Given the description of an element on the screen output the (x, y) to click on. 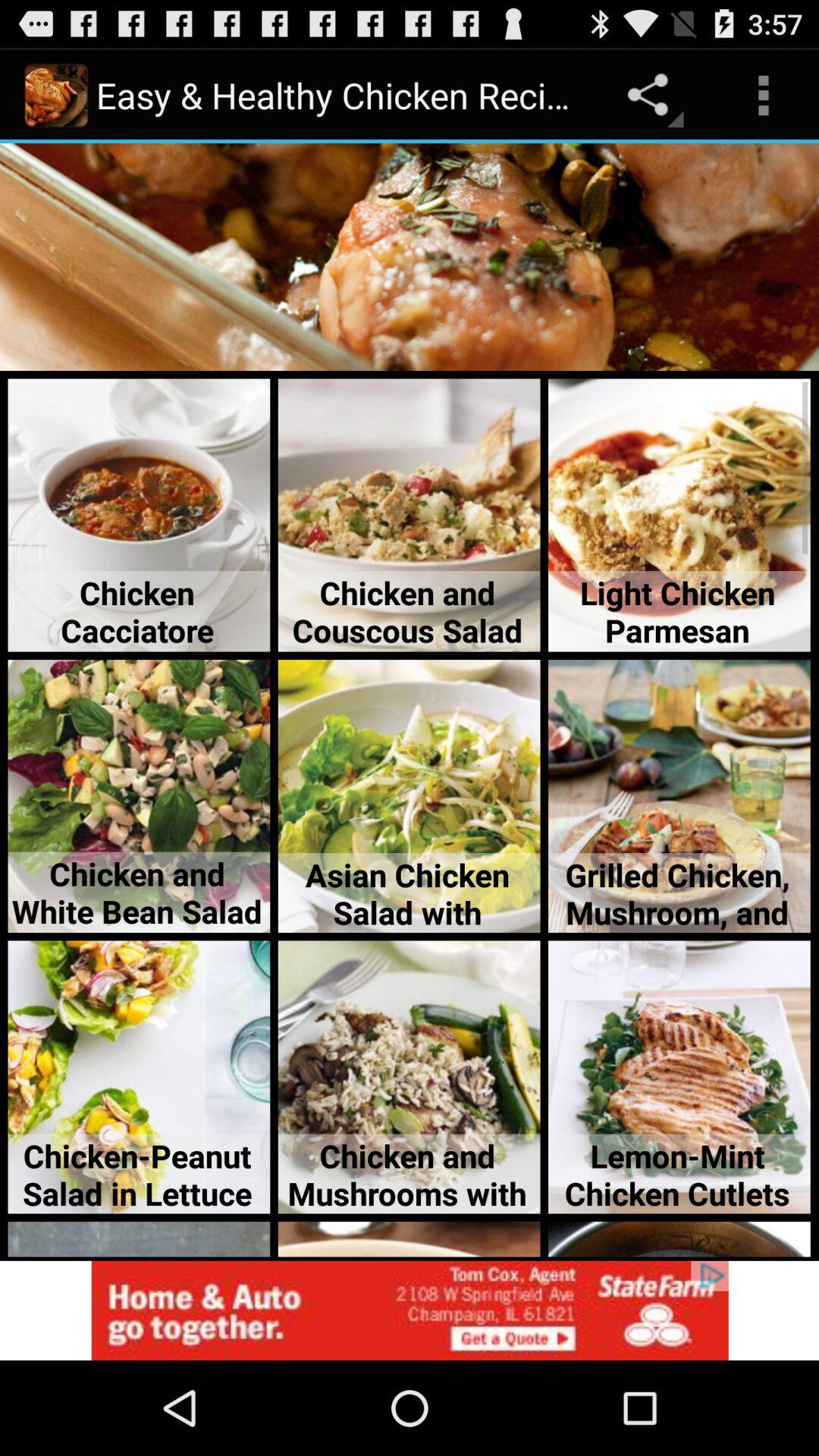
advertisement (409, 1310)
